Given the description of an element on the screen output the (x, y) to click on. 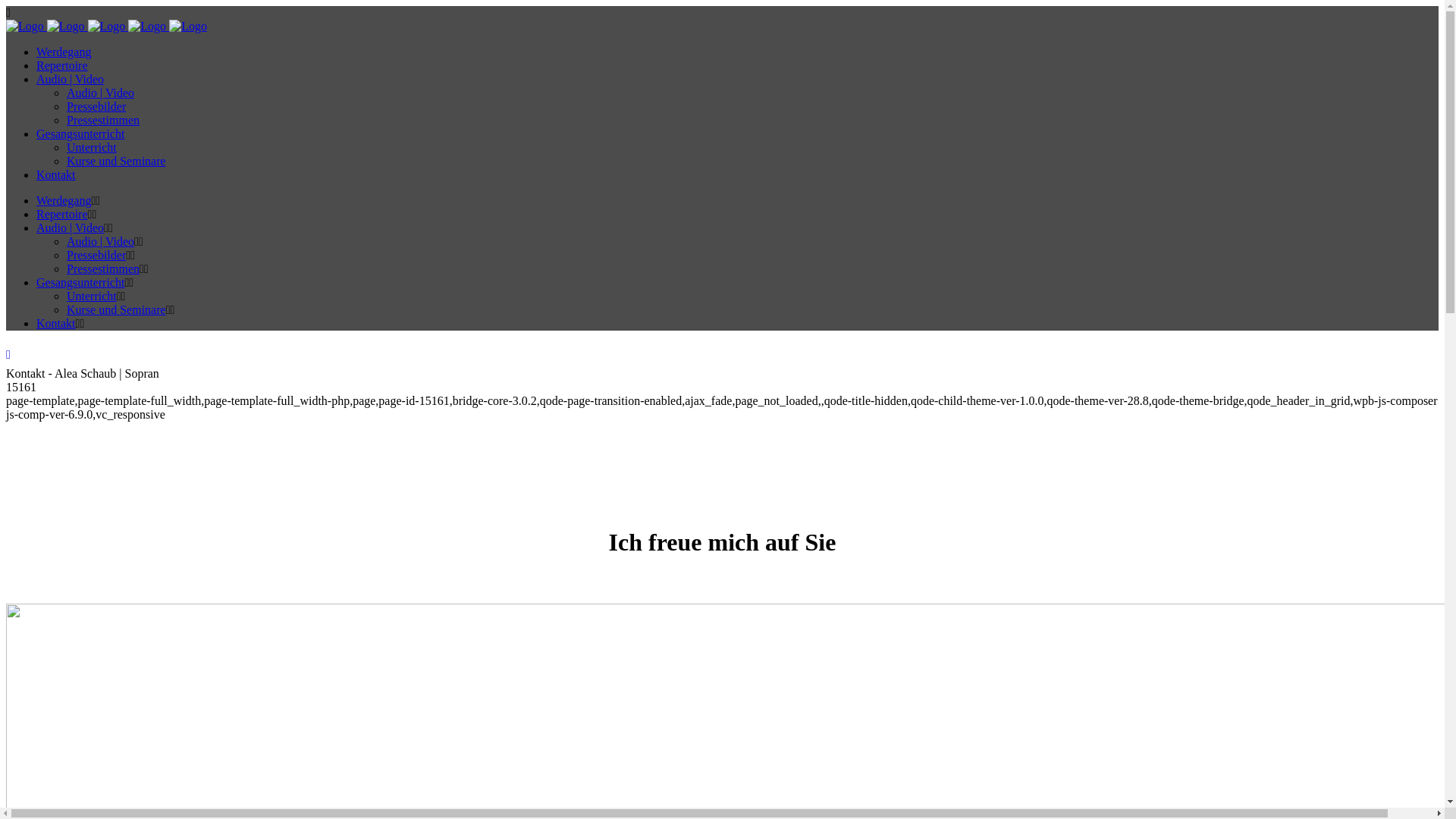
Kontakt Element type: text (55, 322)
Repertoire Element type: text (61, 213)
Pressestimmen Element type: text (102, 119)
Gesangsunterricht Element type: text (80, 133)
Kurse und Seminare Element type: text (116, 309)
Werdegang Element type: text (63, 51)
Audio | Video Element type: text (100, 92)
Audio | Video Element type: text (100, 241)
Repertoire Element type: text (61, 65)
Audio | Video Element type: text (69, 227)
Pressebilder Element type: text (95, 106)
Audio | Video Element type: text (69, 78)
Werdegang Element type: text (63, 200)
Unterricht Element type: text (91, 295)
Pressestimmen Element type: text (102, 268)
Gesangsunterricht Element type: text (80, 282)
Kontakt Element type: text (55, 174)
Kurse und Seminare Element type: text (116, 160)
Pressebilder Element type: text (95, 254)
Unterricht Element type: text (91, 147)
